Given the description of an element on the screen output the (x, y) to click on. 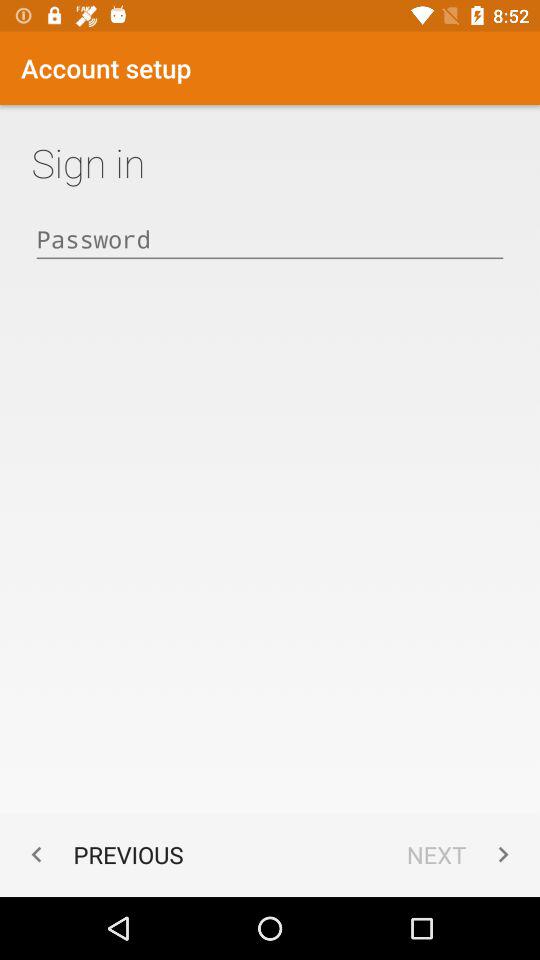
click app at the bottom left corner (102, 854)
